Given the description of an element on the screen output the (x, y) to click on. 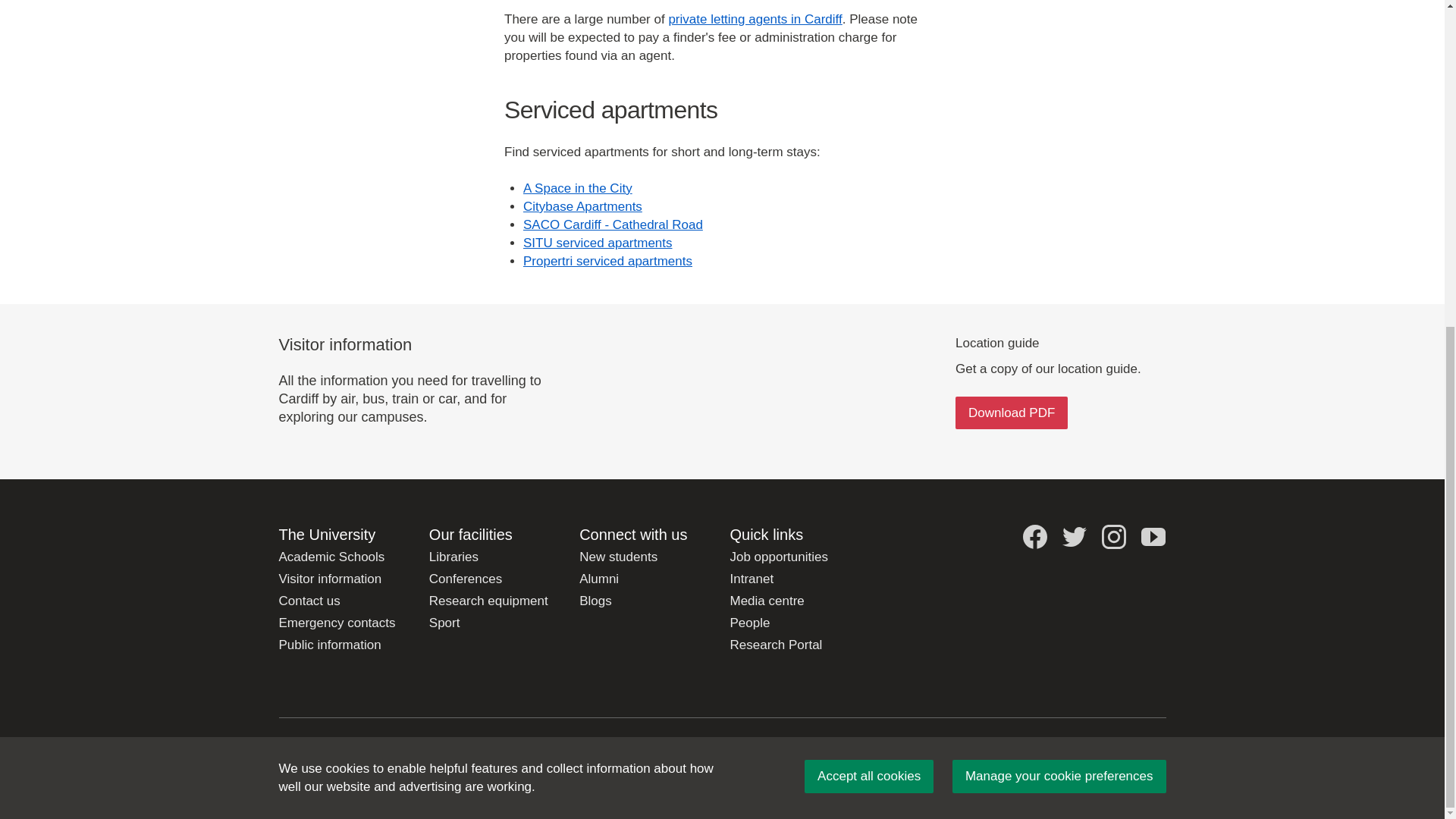
instagram (1113, 536)
Youtube (1153, 536)
Accept all cookies (869, 239)
Manage your cookie preferences (1059, 239)
twitter no background icon (1074, 536)
facebook (1034, 536)
